Given the description of an element on the screen output the (x, y) to click on. 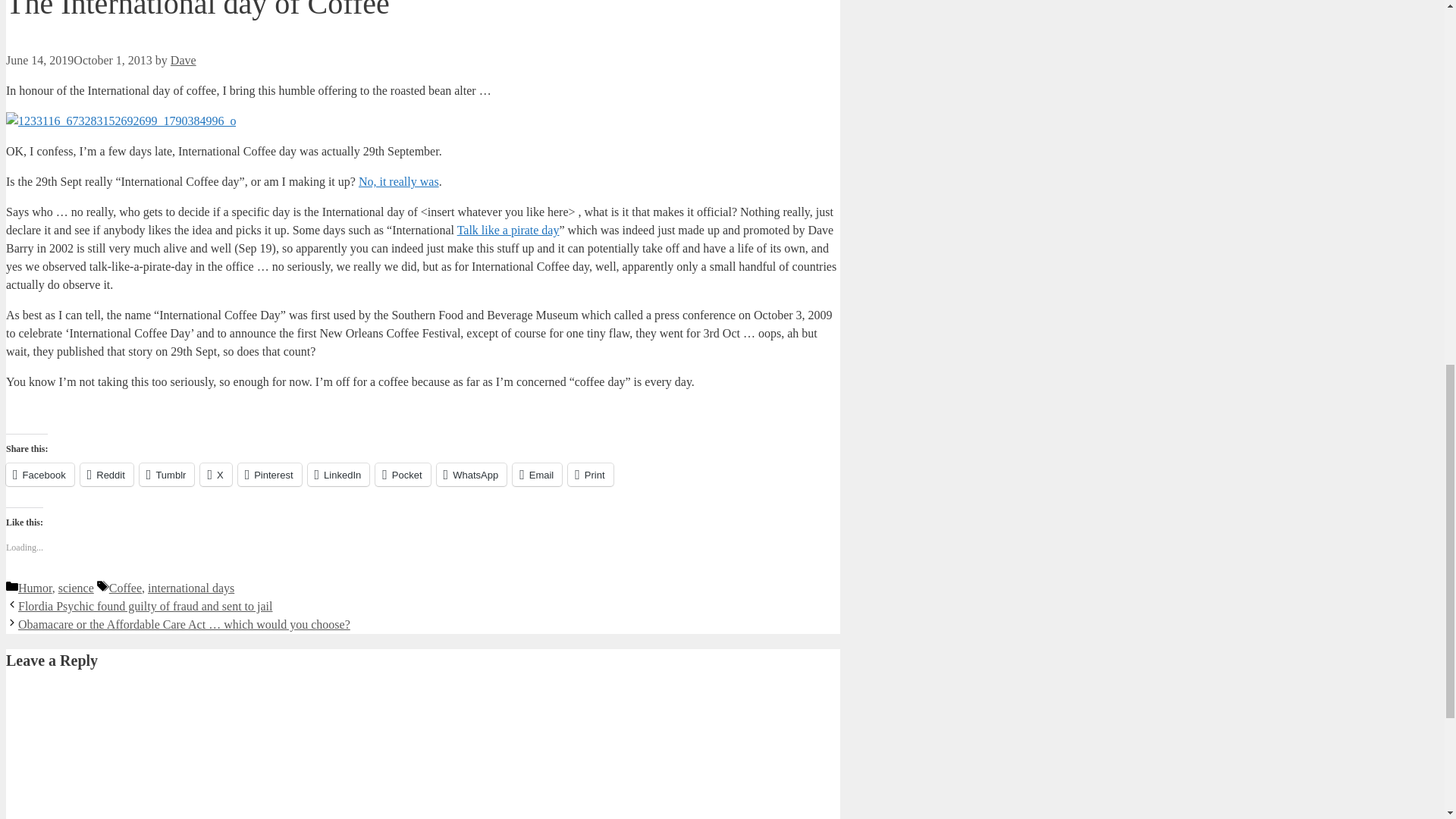
Talk like a pirate day (508, 229)
Click to share on Facebook (39, 474)
Click to print (589, 474)
Click to email a link to a friend (537, 474)
X (215, 474)
Click to share on Pinterest (269, 474)
View all posts by Dave (183, 60)
Dave (183, 60)
Facebook (39, 474)
Click to share on WhatsApp (471, 474)
